Given the description of an element on the screen output the (x, y) to click on. 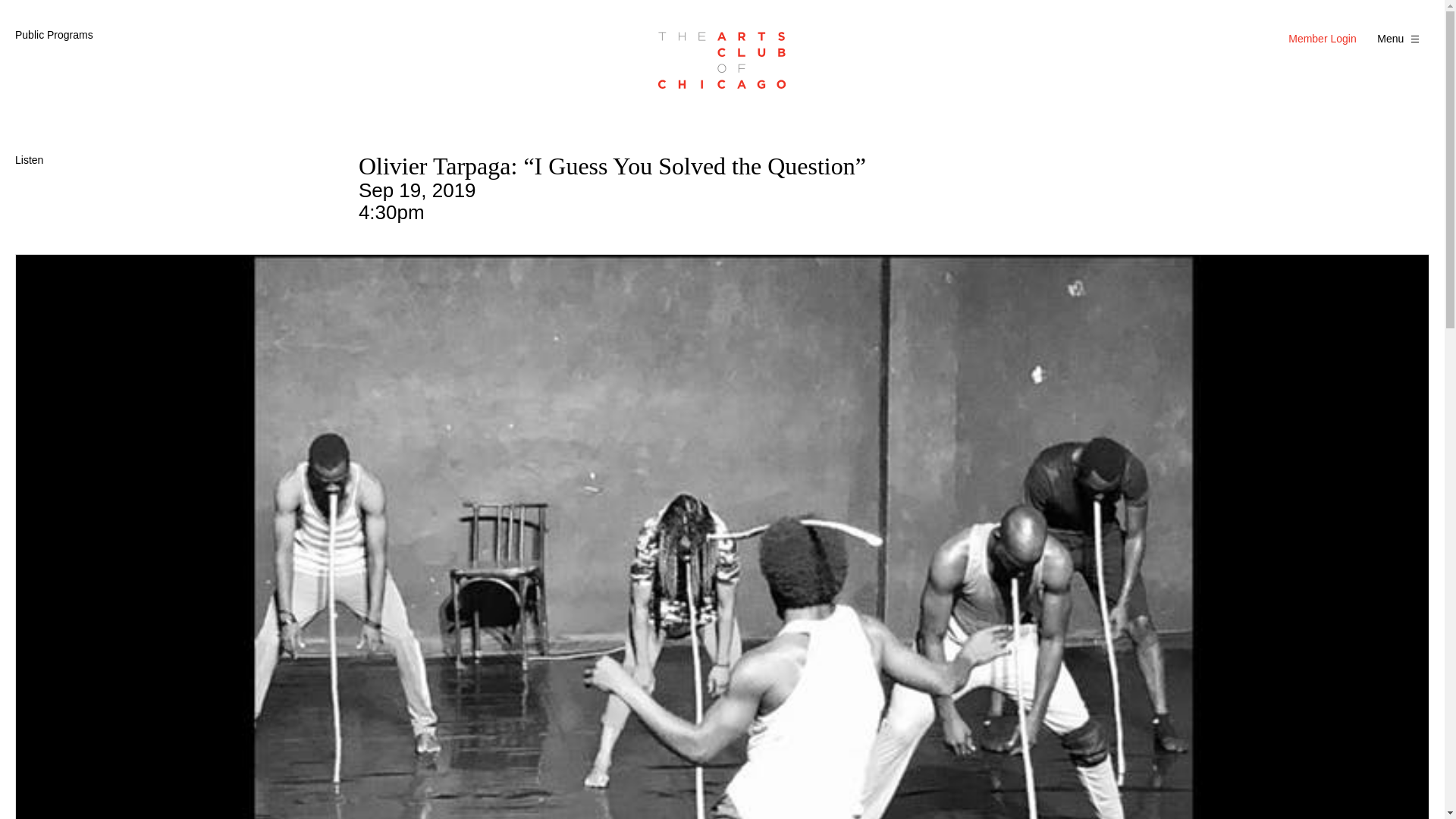
Menu (1399, 38)
Public Programs (53, 34)
Skip to content (18, 33)
